Given the description of an element on the screen output the (x, y) to click on. 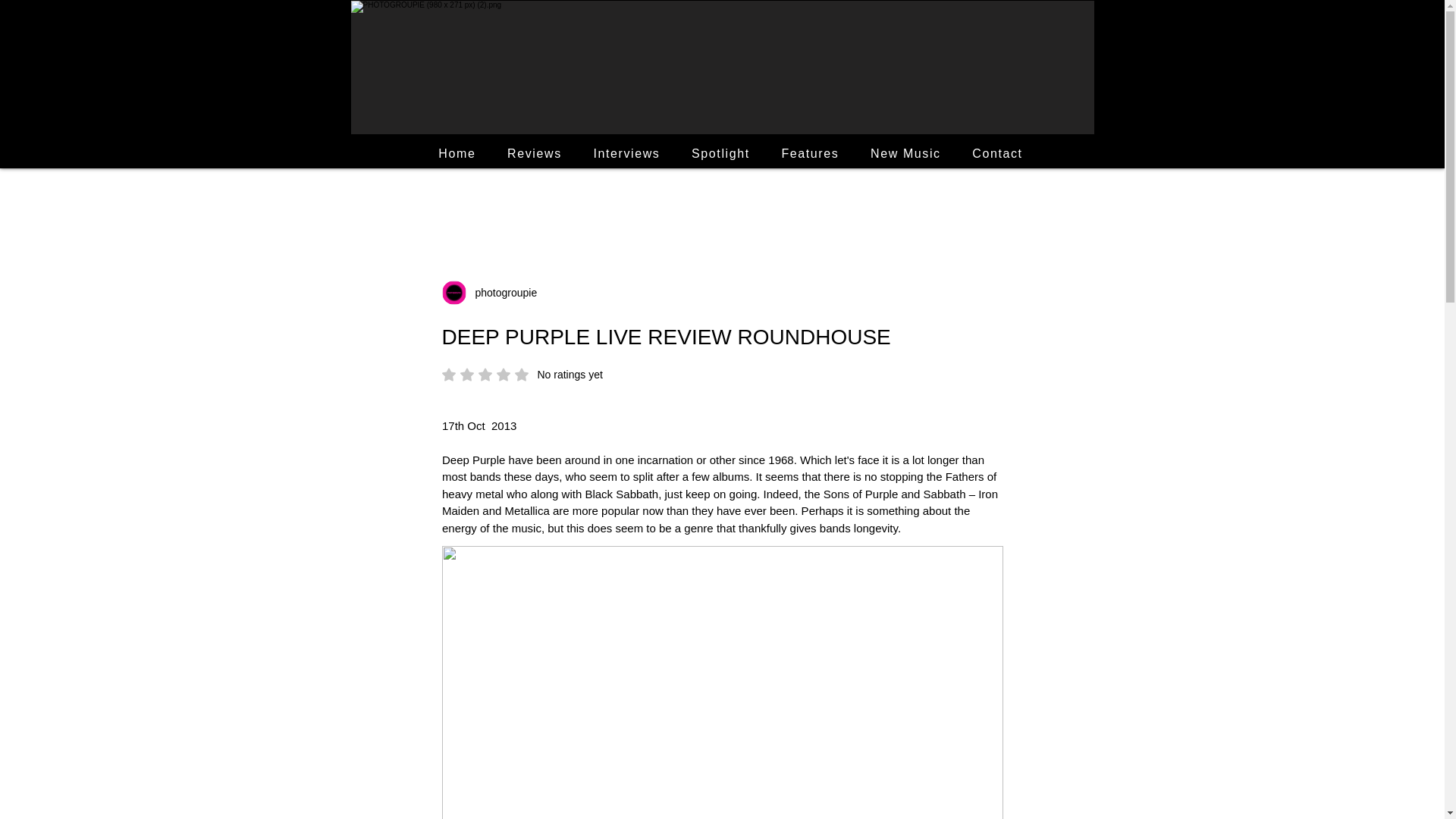
New Music (905, 153)
Home (457, 153)
Spotlight (719, 153)
photogroupie (501, 293)
Features (809, 153)
Interviews (626, 153)
Contact (521, 374)
